Given the description of an element on the screen output the (x, y) to click on. 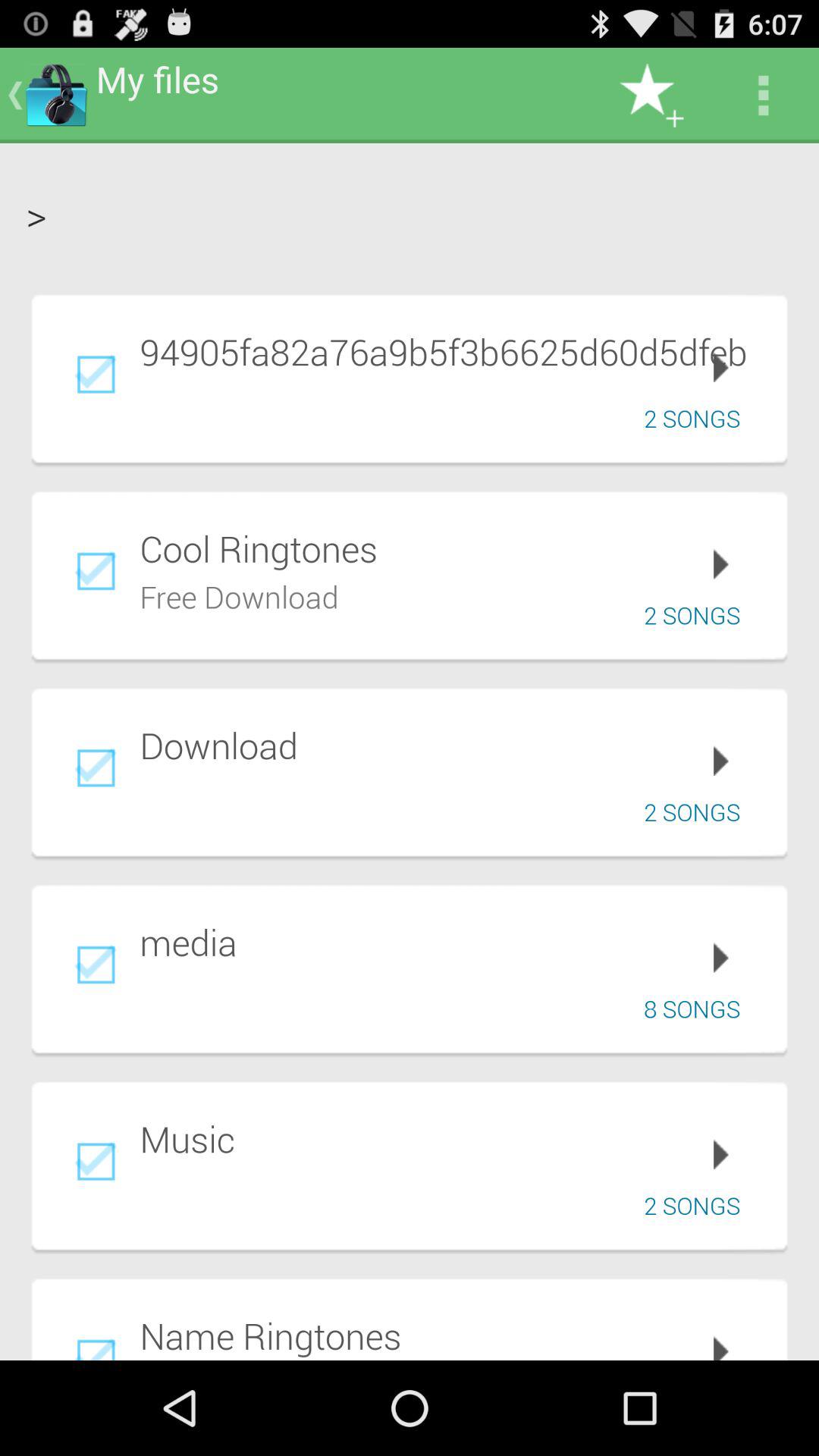
choose 8 songs icon (696, 1008)
